Given the description of an element on the screen output the (x, y) to click on. 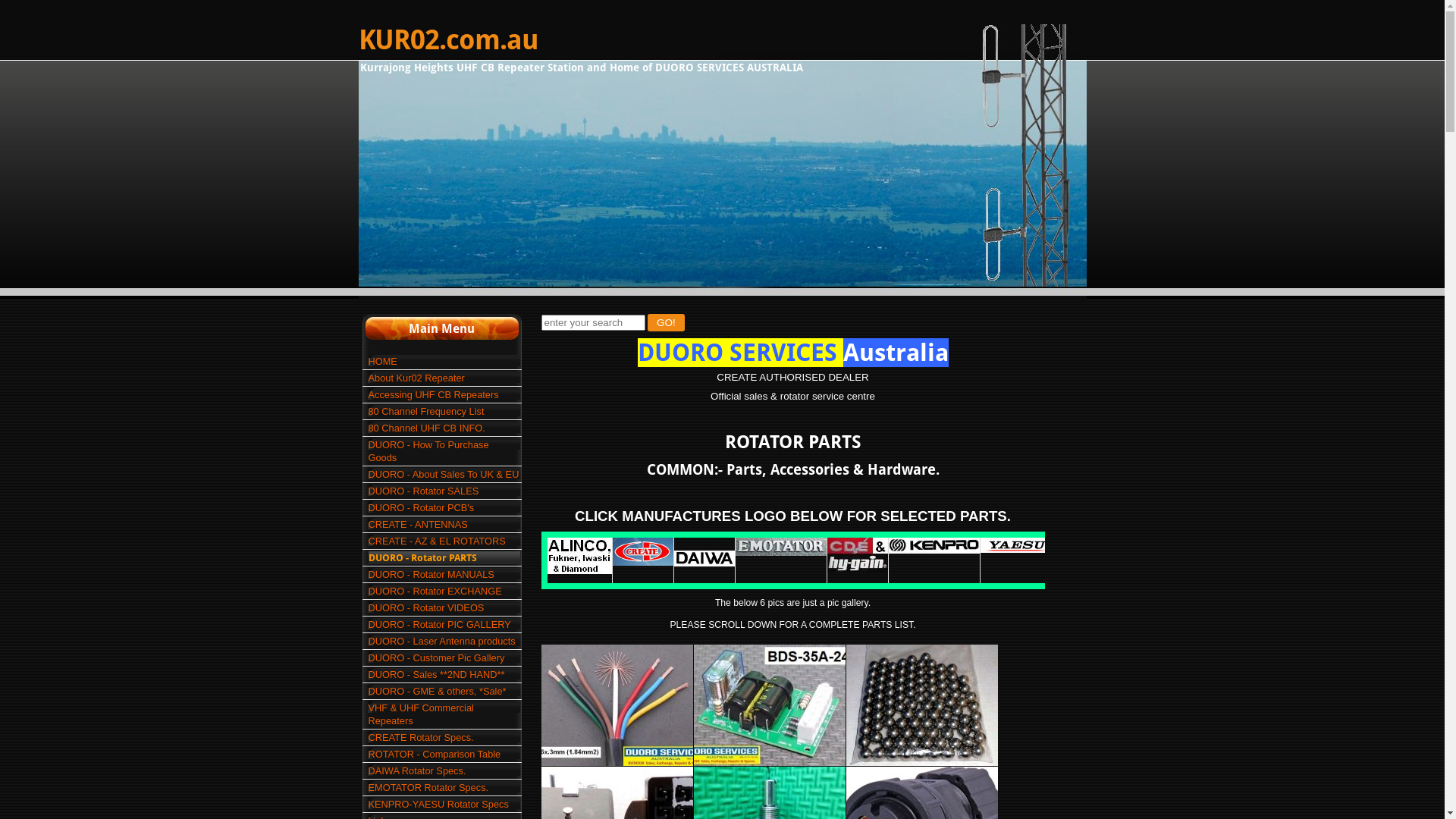
HOME Element type: text (444, 360)
DUORO - How To Purchase Goods Element type: text (444, 451)
DUORO - Rotator EXCHANGE Element type: text (444, 590)
You are viewing the image with filename bearings.jpg Element type: hover (921, 704)
DAIWA Rotator Specs. Element type: text (444, 770)
Create Element type: hover (642, 551)
About Kur02 Repeater Element type: text (444, 377)
DUORO - Rotator PIC GALLERY Element type: text (444, 624)
KENPRO spare parts etc Element type: hover (933, 549)
Daiwa Element type: hover (703, 558)
CREATE - AZ & EL ROTATORS Element type: text (444, 540)
Emotator Element type: hover (780, 546)
DUORO - Rotator PARTS Element type: text (444, 557)
EMOTATOR spare parts etc Element type: hover (780, 551)
ROTATOR - Comparison Table Element type: text (444, 753)
CDE & Hy-Gain Spare Parts etc Element type: hover (856, 569)
KUR02.com.au Element type: text (447, 40)
Accessing UHF CB Repeaters Element type: text (444, 394)
DUORO - Rotator MANUALS Element type: text (444, 573)
KENPRO-YAESU Rotator Specs Element type: text (444, 803)
Kenpro Element type: hover (933, 545)
CREATE spare parts etc Element type: hover (642, 561)
CREATE Rotator Specs. Element type: text (444, 737)
DUORO - Rotator PCB's Element type: text (444, 507)
DUORO - Rotator VIDEOS Element type: text (444, 607)
DUORO - About Sales To UK & EU Element type: text (444, 473)
DUORO - Customer Pic Gallery Element type: text (444, 657)
You are viewing the image with filename BDS-35A-24v4.jpg Element type: hover (768, 704)
DUORO - Rotator SALES Element type: text (444, 490)
YAESU Spare Parts etc Element type: hover (1014, 549)
DAIWA spare parts etc Element type: hover (703, 562)
80 Channel UHF CB INFO. Element type: text (444, 427)
EMOTATOR Rotator Specs. Element type: text (444, 787)
DUORO - GME & others, *Sale* Element type: text (444, 690)
ALINCO ETC Spare Patrs etc Element type: hover (579, 571)
You are viewing the image with filename 7c26x.3_1.84a.jpg Element type: hover (617, 704)
DUORO - Laser Antenna products Element type: text (444, 640)
GO! Element type: text (665, 322)
VHF & UHF Commercial Repeaters Element type: text (444, 714)
CREATE - ANTENNAS Element type: text (444, 523)
80 Channel Frequency List Element type: text (444, 410)
DUORO - Sales **2ND HAND** Element type: text (444, 674)
